Given the description of an element on the screen output the (x, y) to click on. 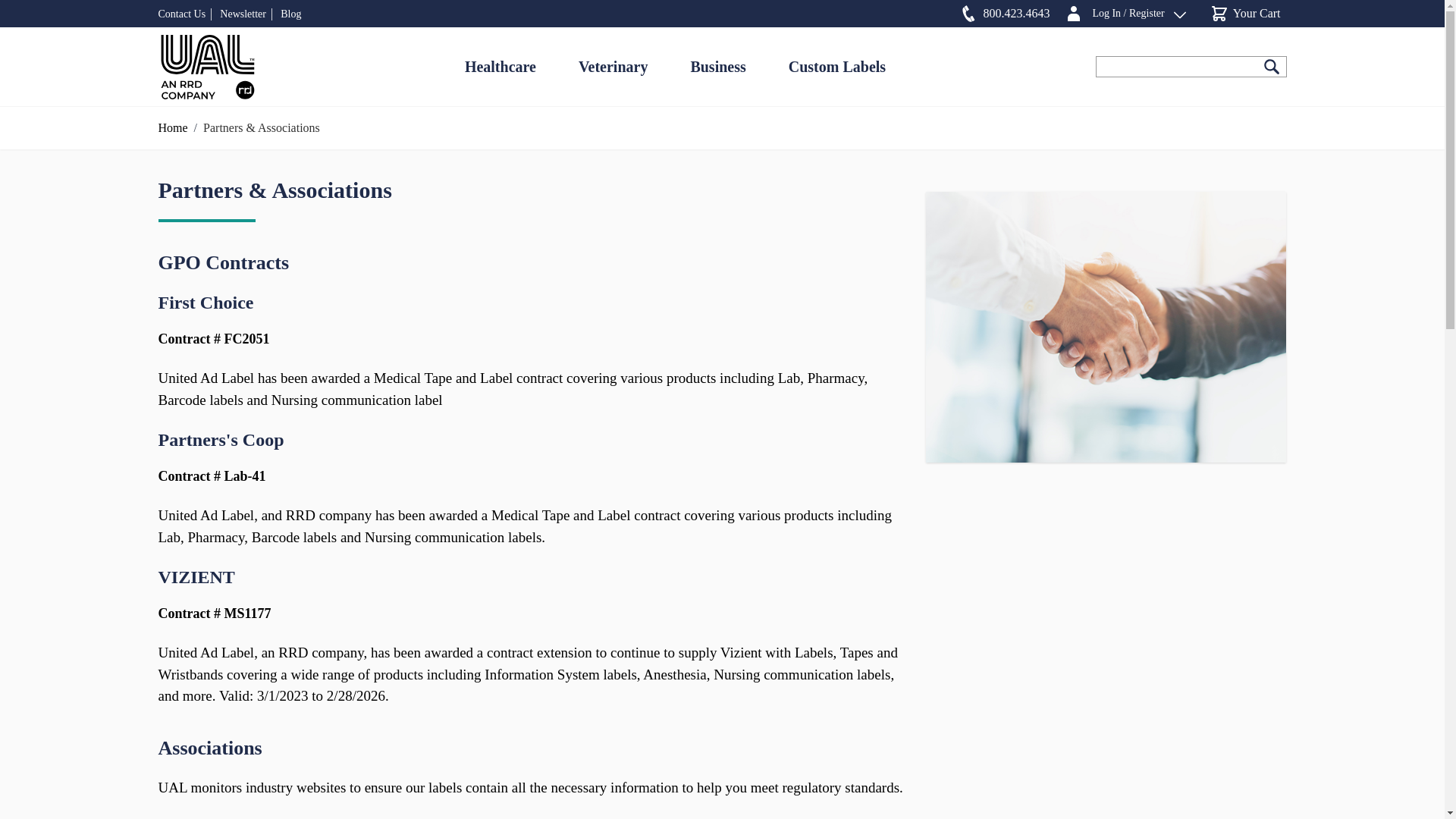
United Ad Label (205, 65)
Contact Us (181, 13)
Newsletter (242, 13)
TM (205, 65)
TM (1001, 13)
Blog (205, 65)
